Given the description of an element on the screen output the (x, y) to click on. 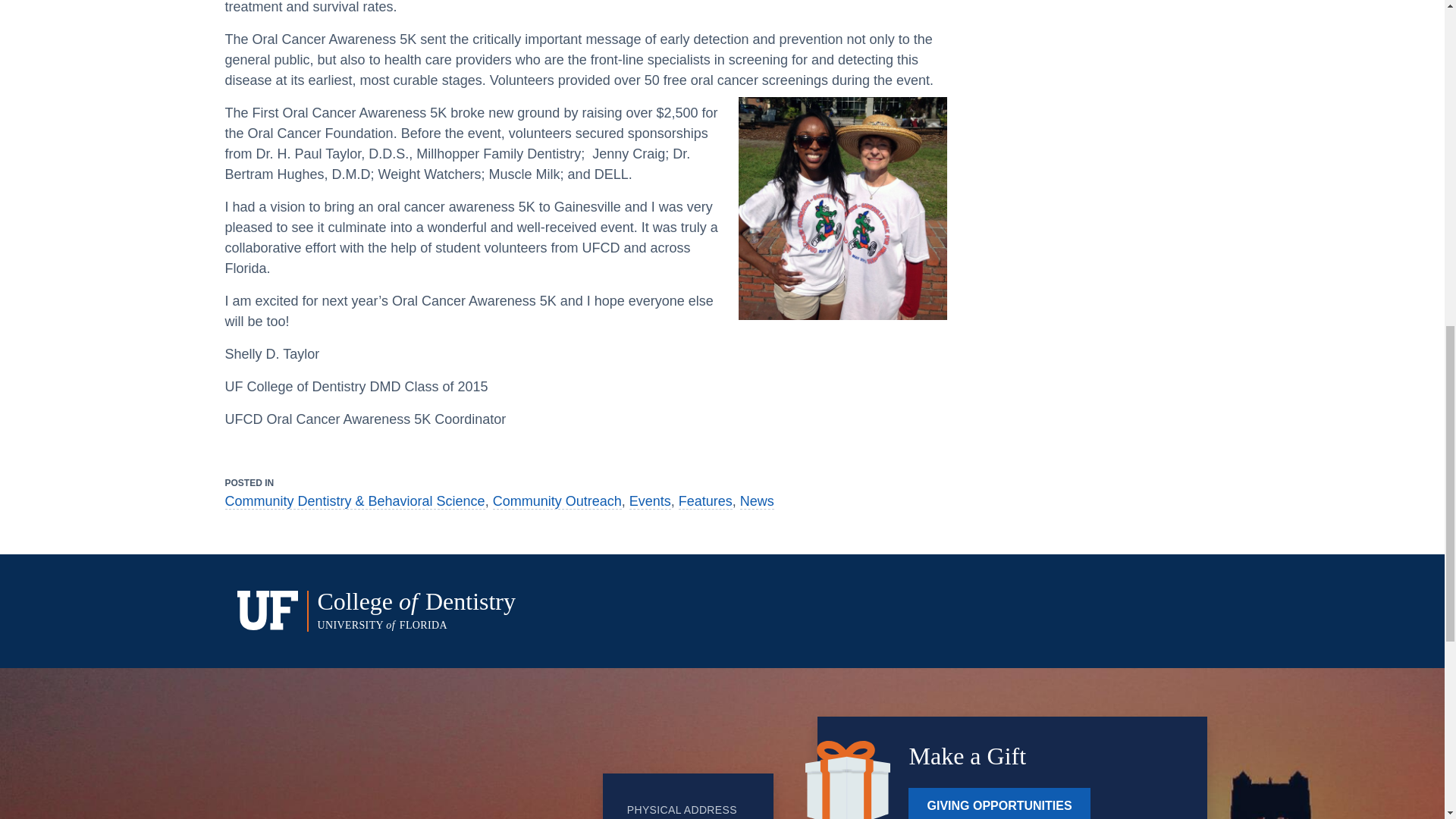
Google Maps Embed (478, 770)
